Given the description of an element on the screen output the (x, y) to click on. 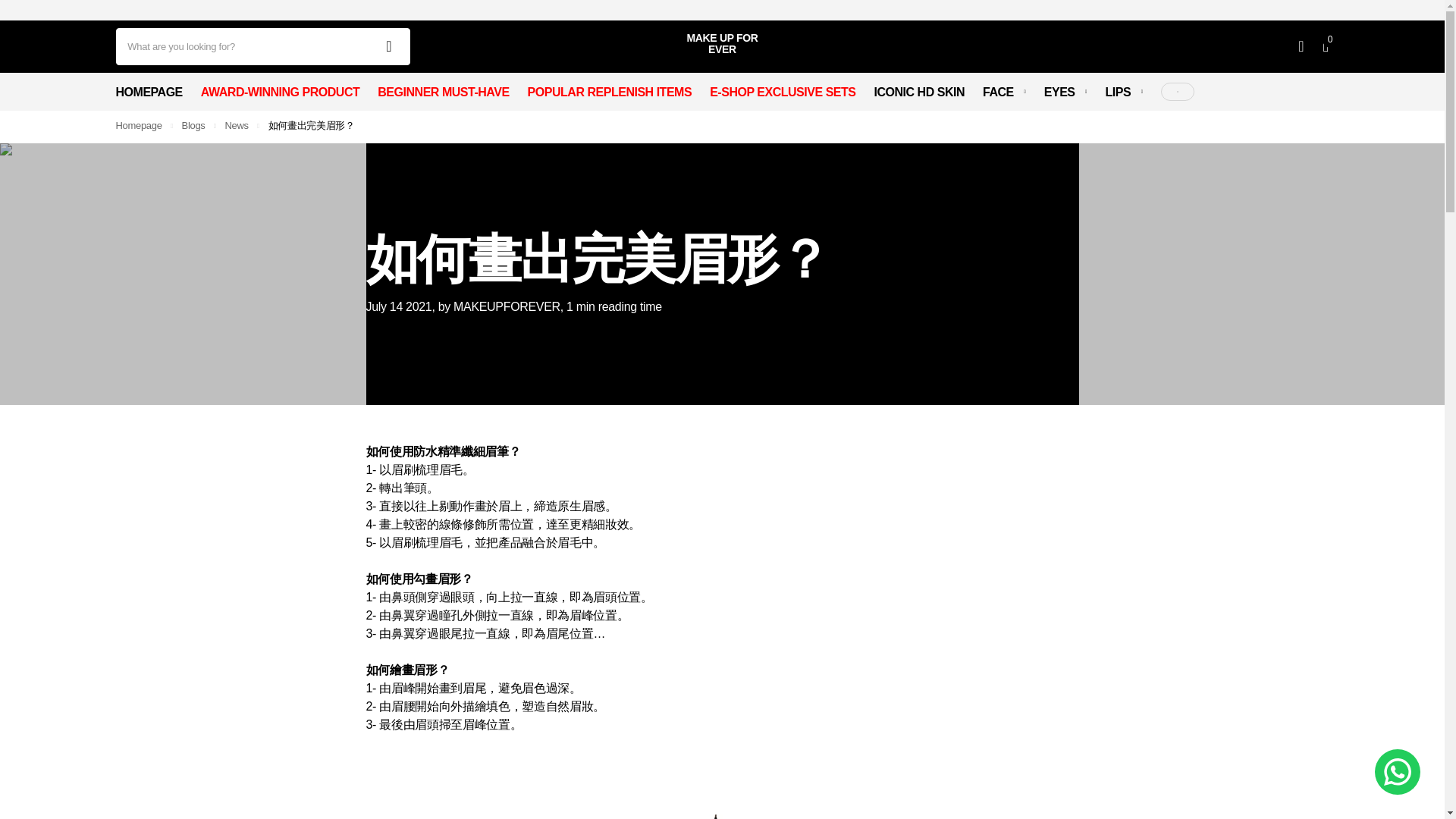
EYES (1065, 91)
HOMEPAGE (148, 91)
FACE (1004, 91)
Zoeken (389, 46)
Home (138, 125)
POPULAR REPLENISH ITEMS (610, 91)
E-SHOP EXCLUSIVE SETS (783, 91)
BEGINNER MUST-HAVE (442, 91)
ICONIC HD SKIN (918, 91)
AWARD-WINNING PRODUCT (279, 91)
